Given the description of an element on the screen output the (x, y) to click on. 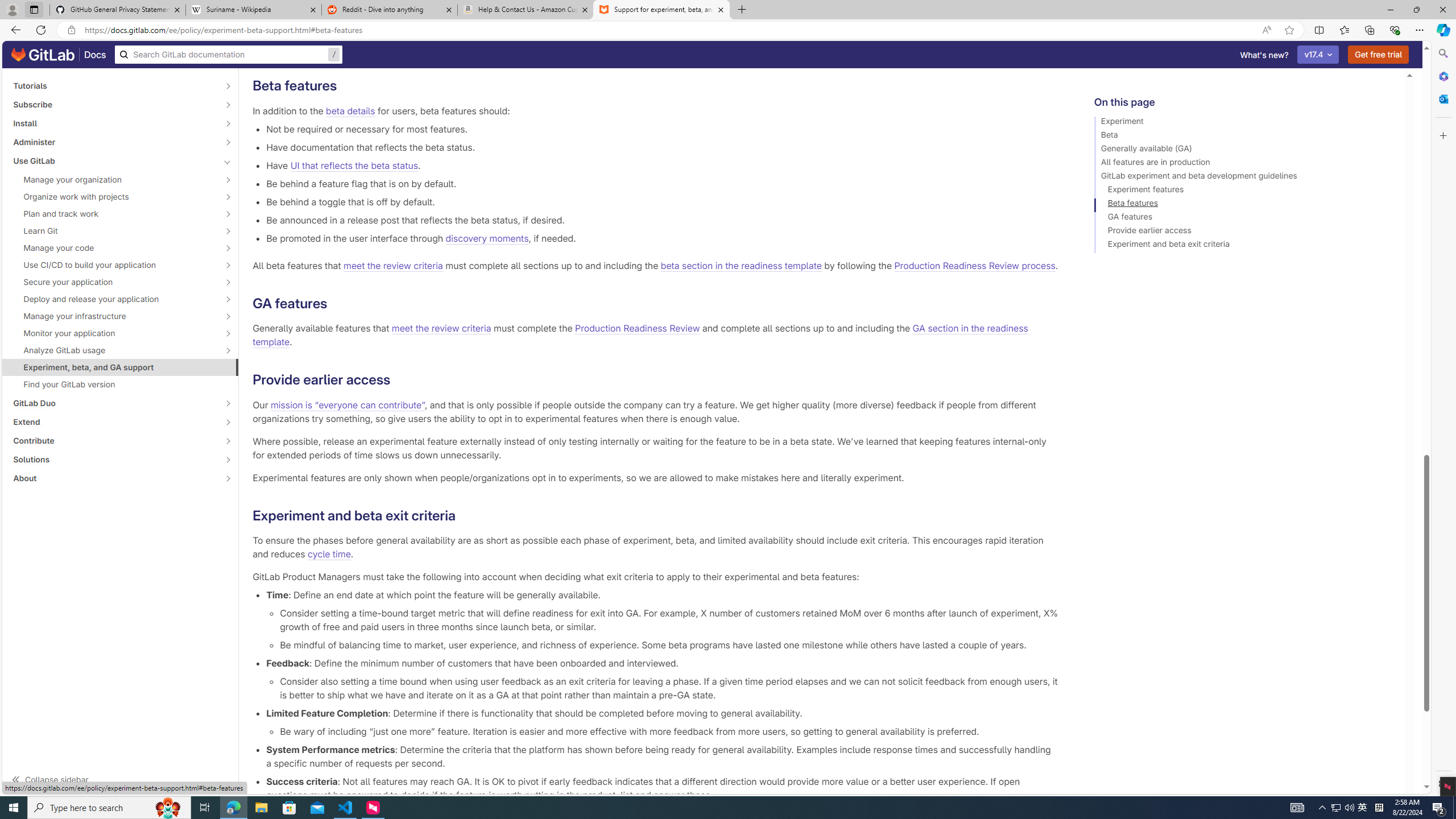
Subscribe (113, 104)
Get free trial (1378, 54)
All features are in production (1244, 164)
Extend (113, 421)
Beta features (1244, 205)
Have UI that reflects the beta status. (662, 164)
Manage your organization (113, 179)
Get free trial (1378, 54)
Analyze GitLab usage (113, 349)
GitLab experiment and beta development guidelines (1244, 177)
